Given the description of an element on the screen output the (x, y) to click on. 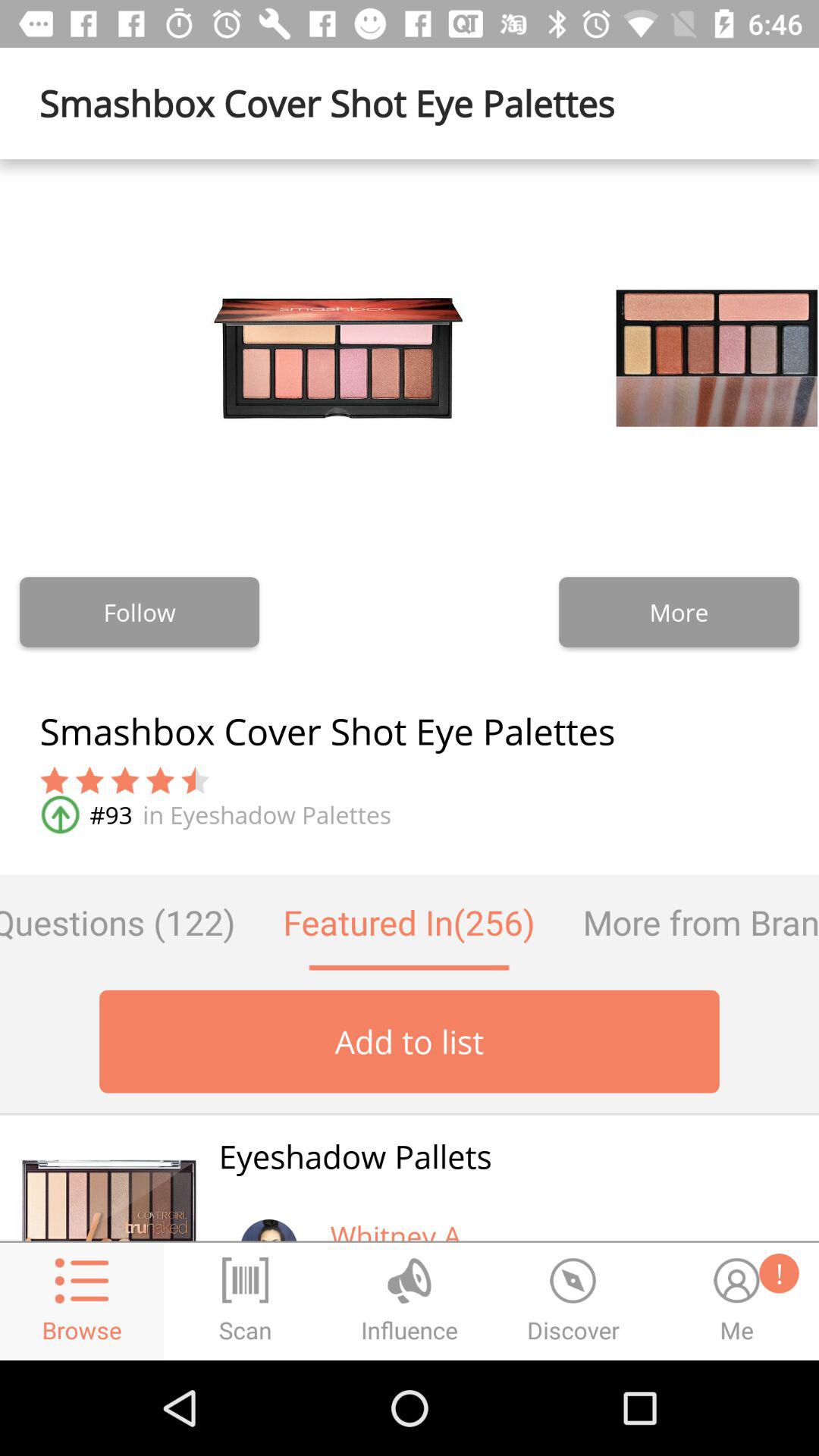
tap icon next to the more icon (139, 612)
